Given the description of an element on the screen output the (x, y) to click on. 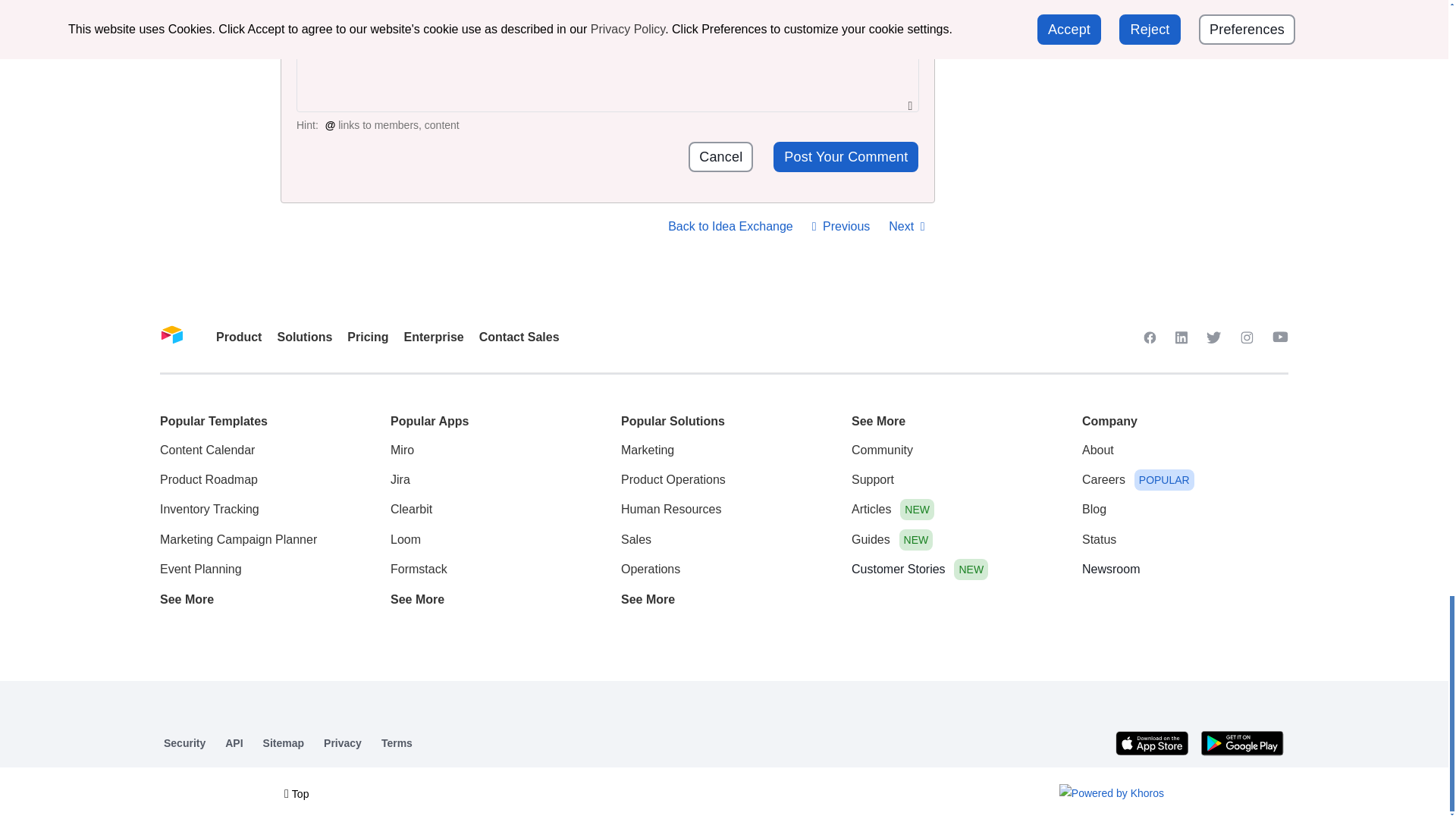
Post Your Comment (845, 156)
Cancel (720, 156)
